Given the description of an element on the screen output the (x, y) to click on. 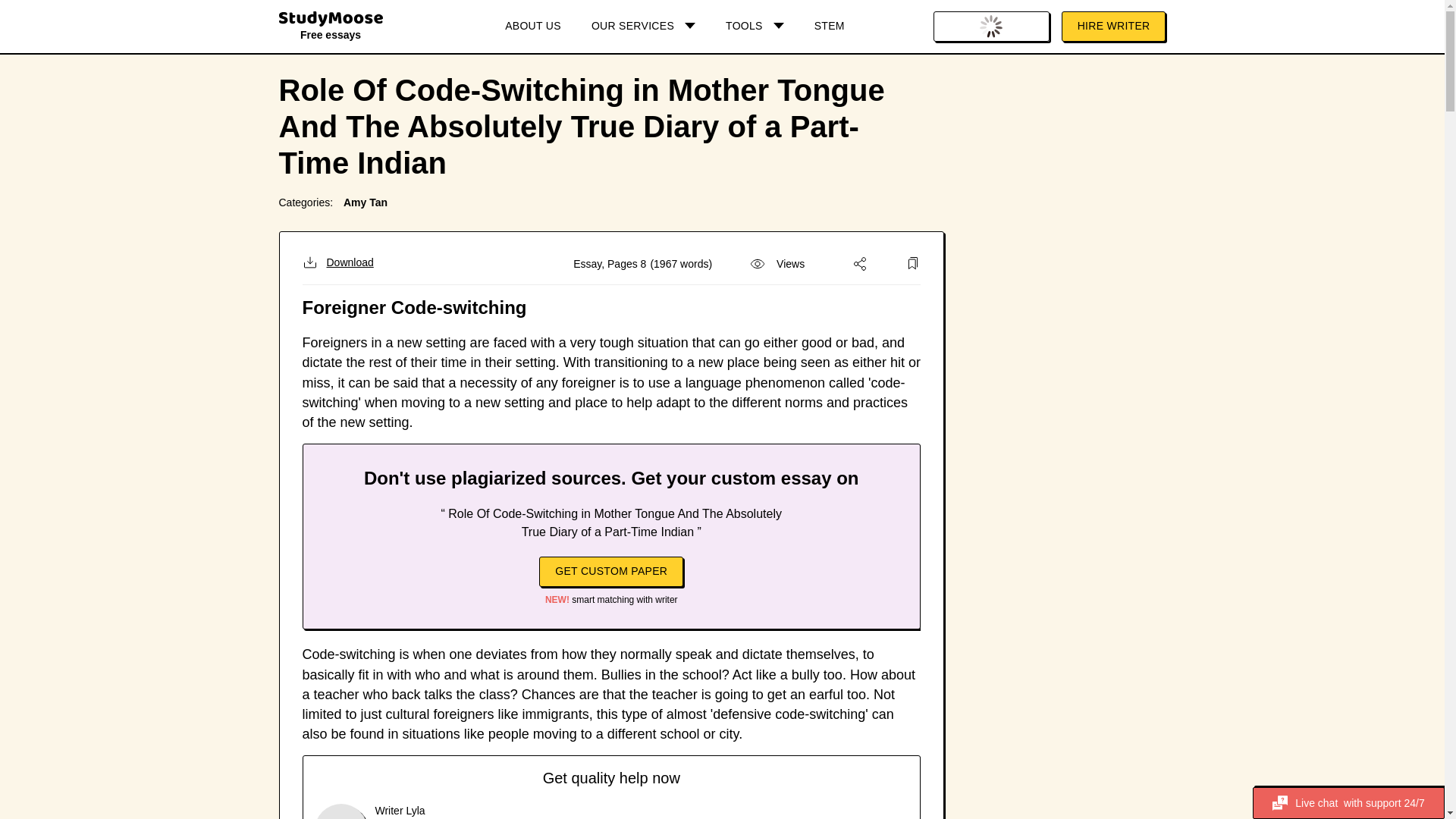
Free essays (330, 29)
HIRE WRITER (1113, 26)
ABOUT US (532, 26)
Amy Tan (365, 202)
GET CUSTOM PAPER (610, 571)
STEM (829, 26)
OUR SERVICES (643, 26)
TOOLS (754, 26)
Download (336, 262)
